Given the description of an element on the screen output the (x, y) to click on. 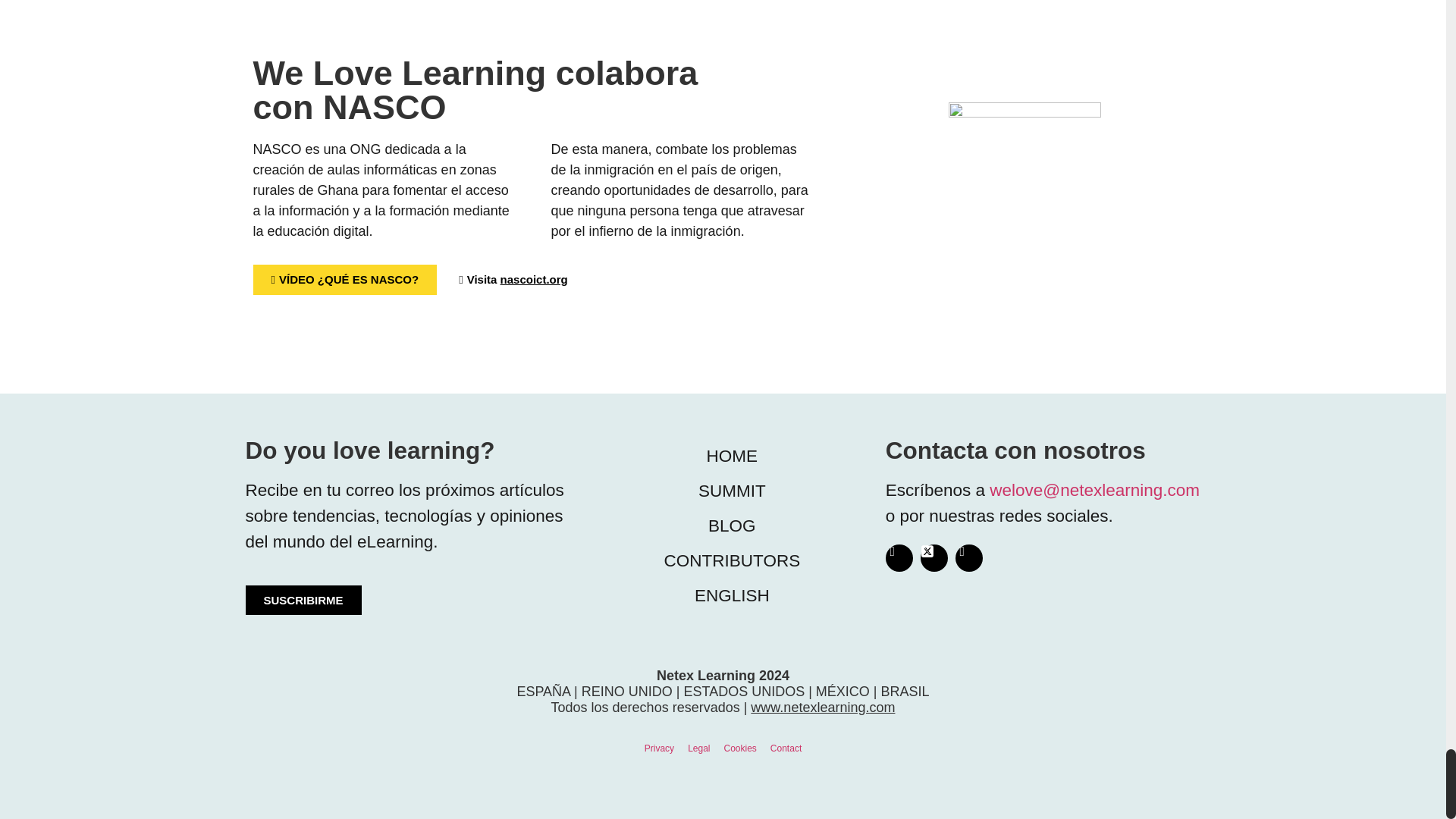
Visita nascoict.org (513, 279)
HOME (731, 456)
English (731, 595)
SUSCRIBIRME (303, 600)
